Given the description of an element on the screen output the (x, y) to click on. 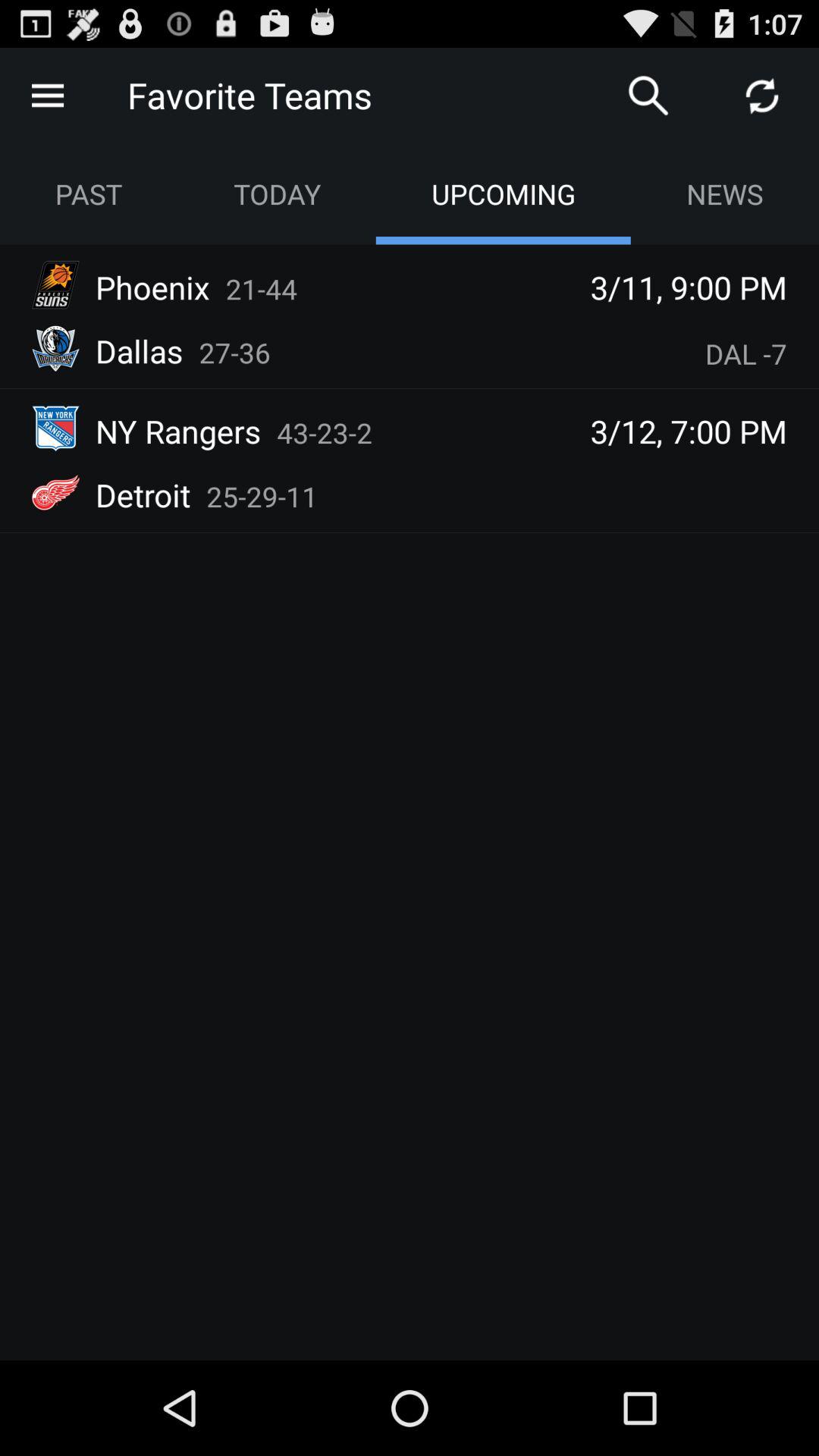
search (648, 95)
